Given the description of an element on the screen output the (x, y) to click on. 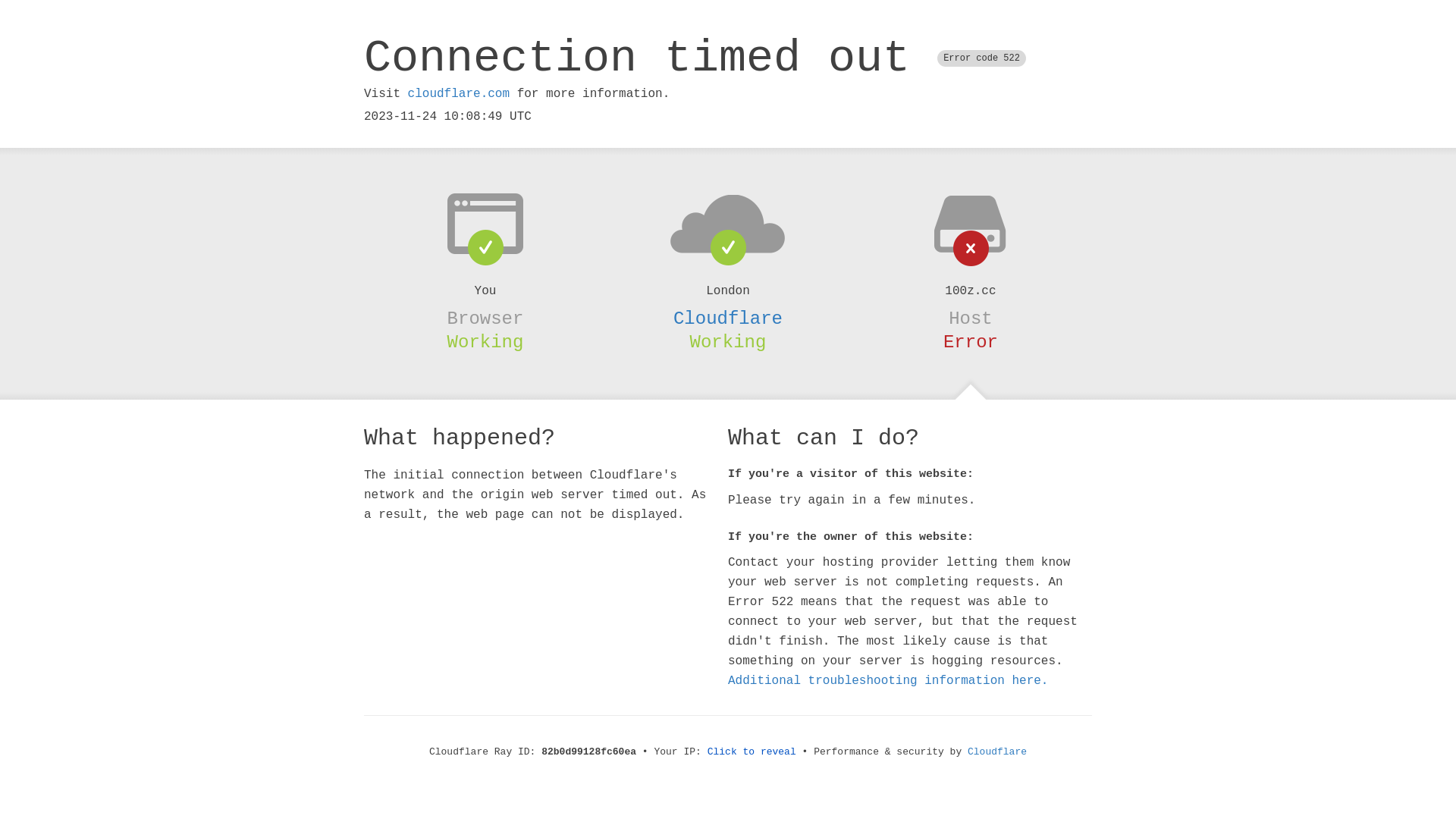
Cloudflare Element type: text (996, 751)
Additional troubleshooting information here. Element type: text (888, 680)
Click to reveal Element type: text (751, 751)
cloudflare.com Element type: text (458, 93)
Cloudflare Element type: text (727, 318)
